Given the description of an element on the screen output the (x, y) to click on. 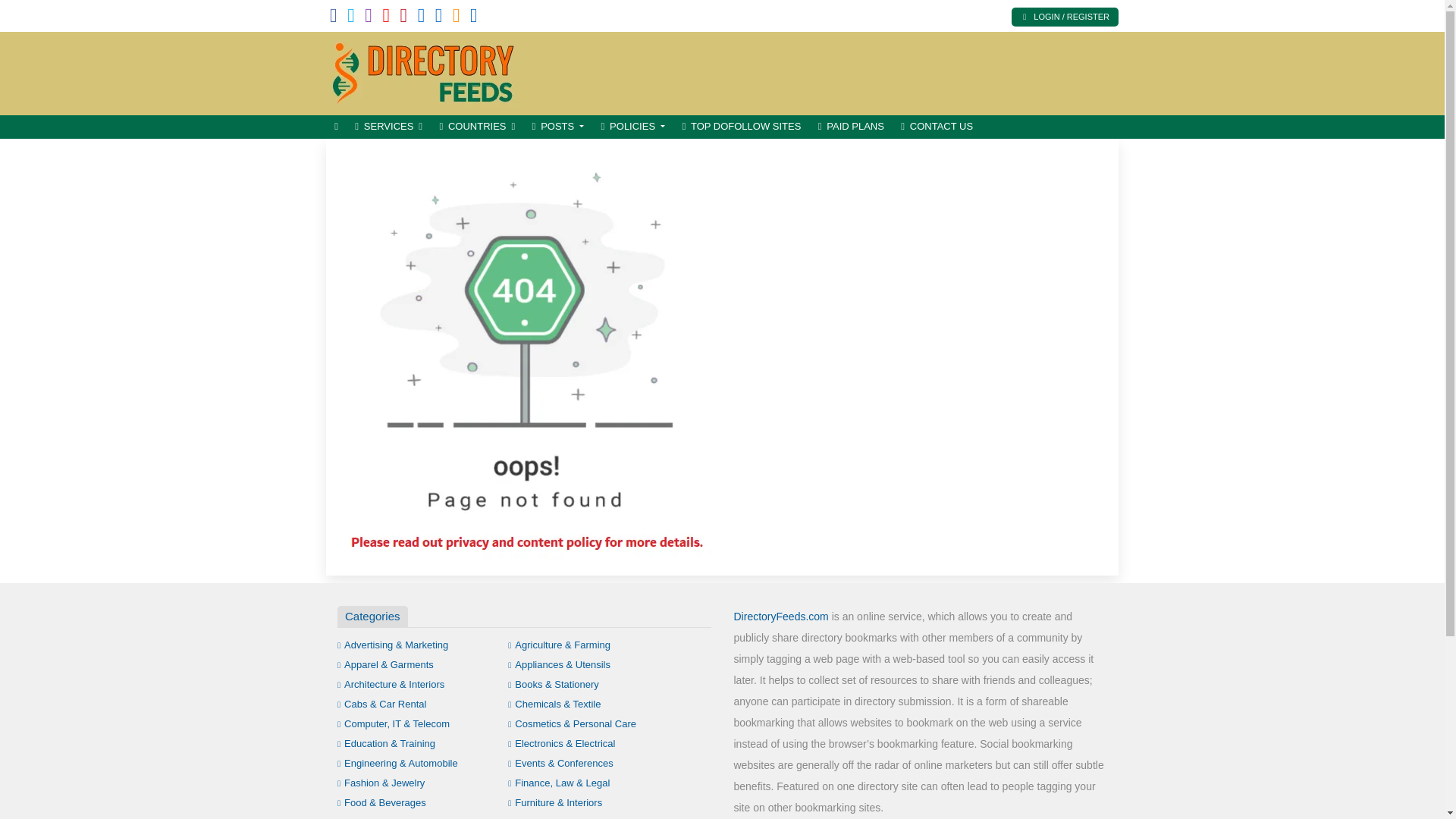
Directory Feed Service for Search Engine Optimization (428, 71)
SERVICES (388, 126)
